Given the description of an element on the screen output the (x, y) to click on. 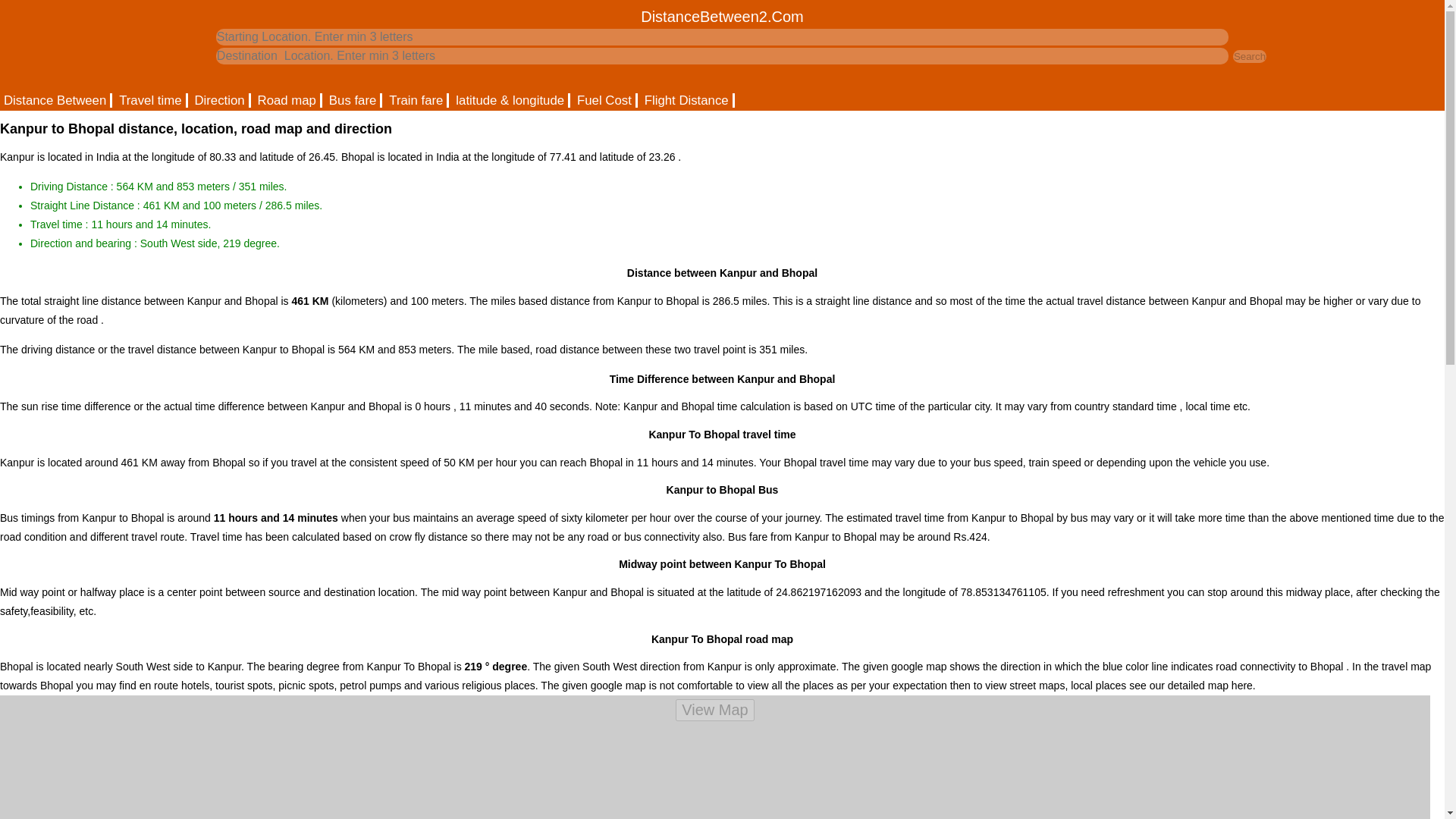
Search (1249, 56)
Search (1249, 56)
Travel time (151, 100)
Train fare (416, 100)
Fuel Cost (605, 100)
Bus fare (353, 100)
Flight Distance (687, 100)
Distance Between (56, 100)
View Map (714, 710)
Road map (287, 100)
Direction (220, 100)
driving direction (220, 100)
